Given the description of an element on the screen output the (x, y) to click on. 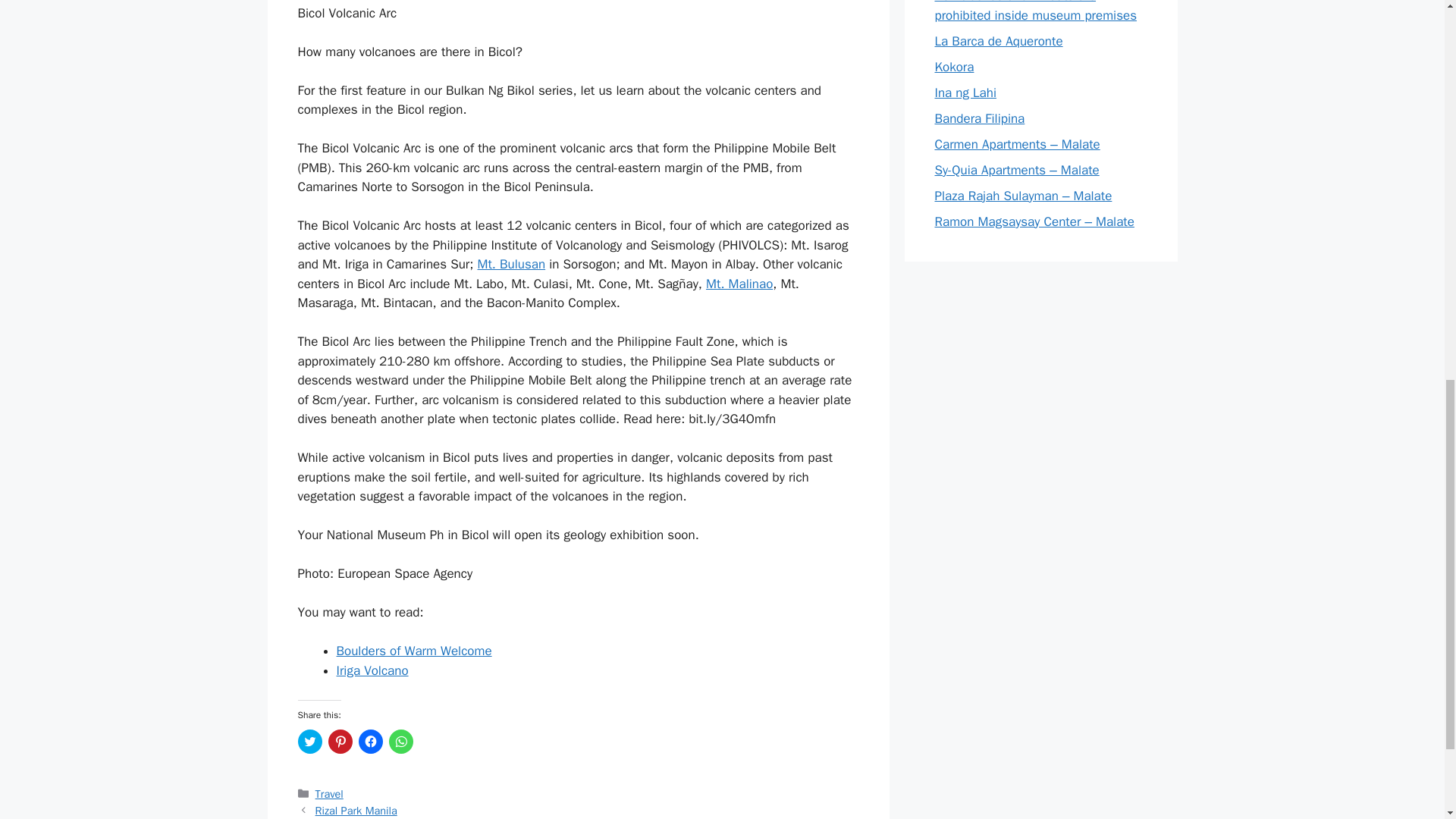
Rizal Park Manila (356, 810)
Boulders of Warm Welcome (414, 650)
Click to share on Facebook (369, 741)
Click to share on WhatsApp (400, 741)
Click to share on Pinterest (339, 741)
Click to share on Twitter (309, 741)
Bomb Jokes and Threats are prohibited inside museum premises (1035, 11)
Mt. Malinao (739, 283)
Mt. Bulusan (511, 263)
Travel (329, 793)
